Given the description of an element on the screen output the (x, y) to click on. 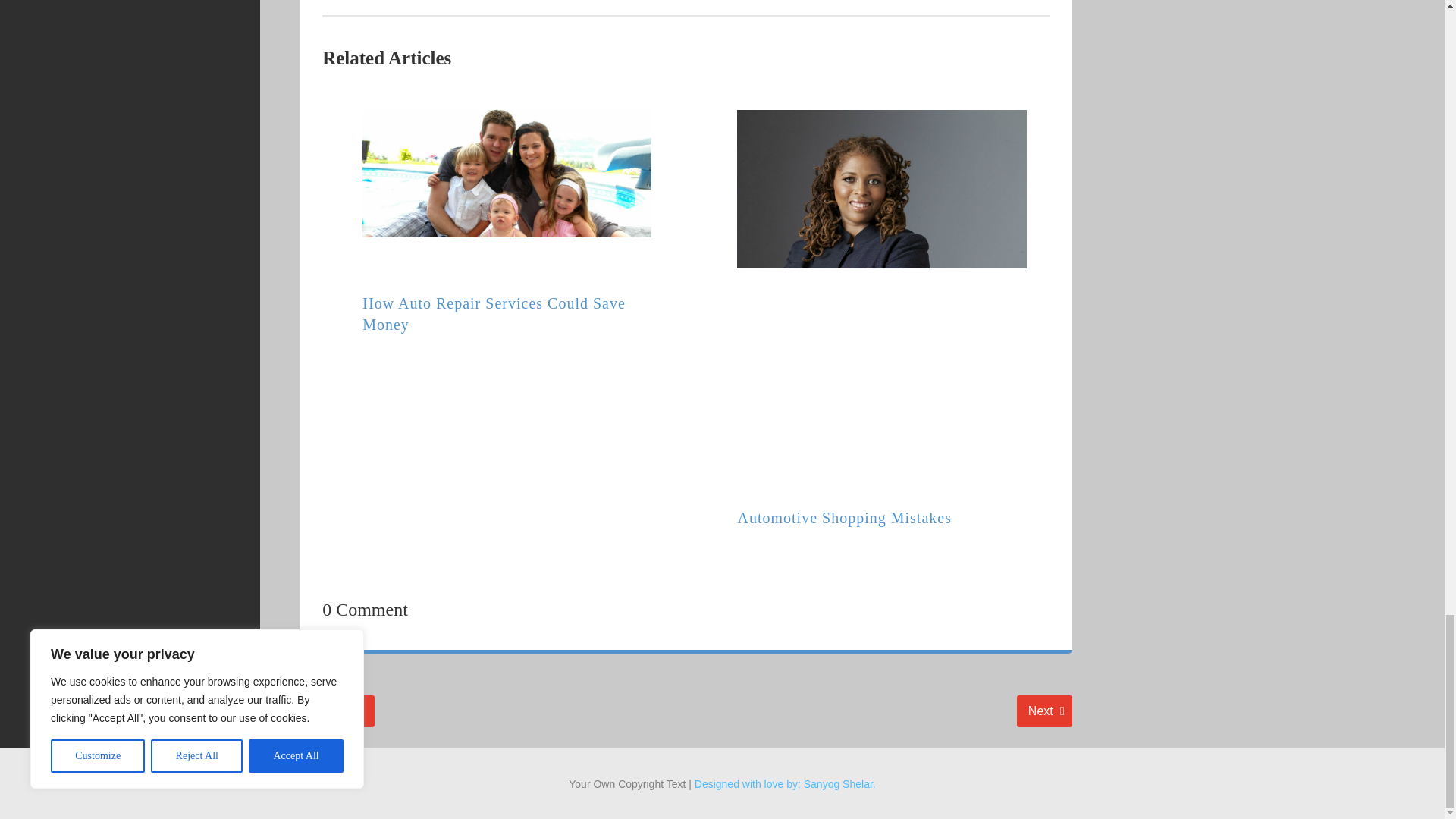
Automotive Shopping Mistakes (335, 711)
How Auto Repair Services Could Save Money (1043, 711)
